Given the description of an element on the screen output the (x, y) to click on. 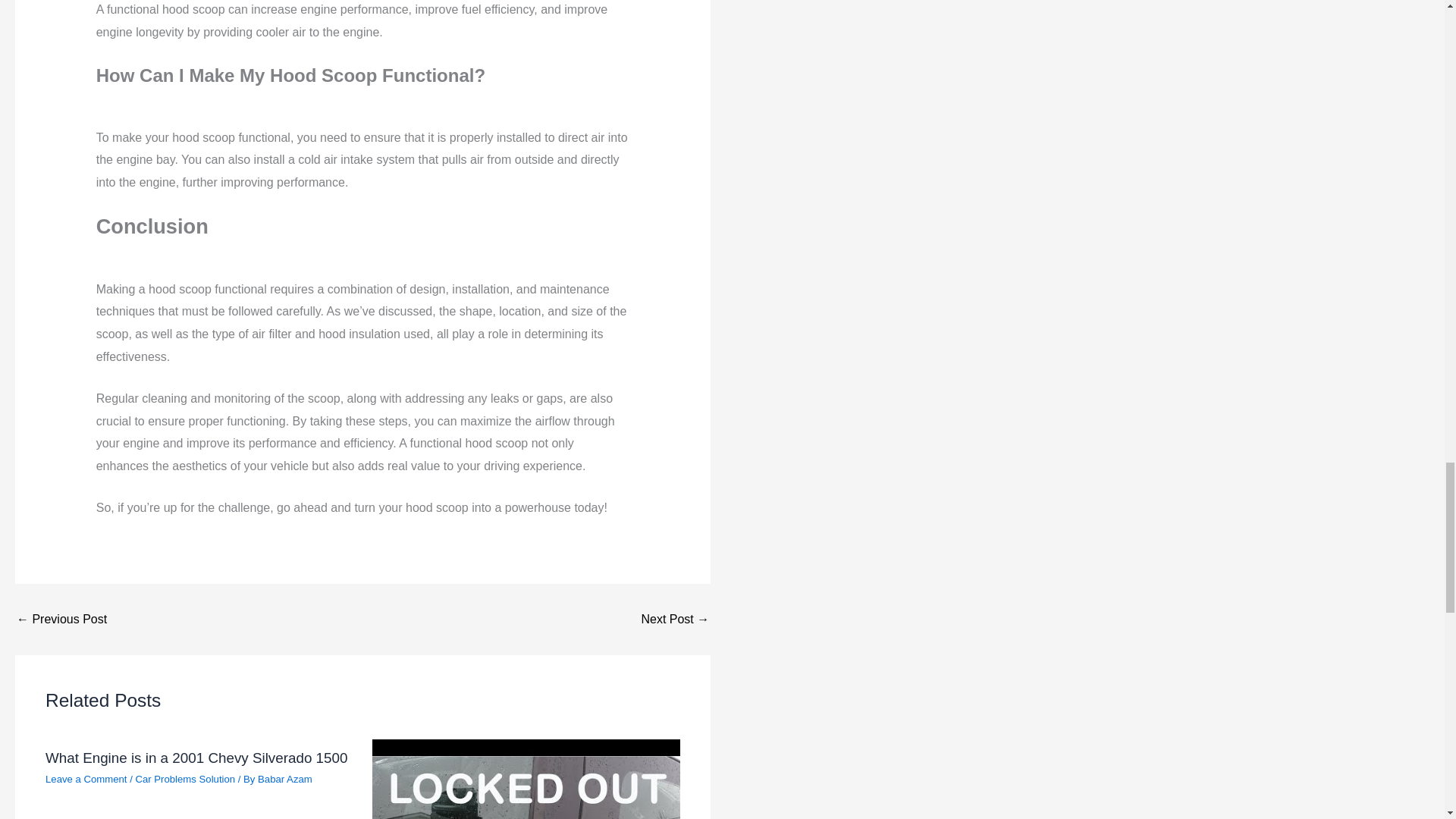
Understanding Pit Bike Backfire (61, 619)
Leave a Comment (86, 778)
Babar Azam (285, 778)
How to Increase the Speed of Your Kubota Rtv 1100 (674, 619)
What Engine is in a 2001 Chevy Silverado 1500 (196, 757)
View all posts by Babar Azam (285, 778)
Car Problems Solution (184, 778)
